Given the description of an element on the screen output the (x, y) to click on. 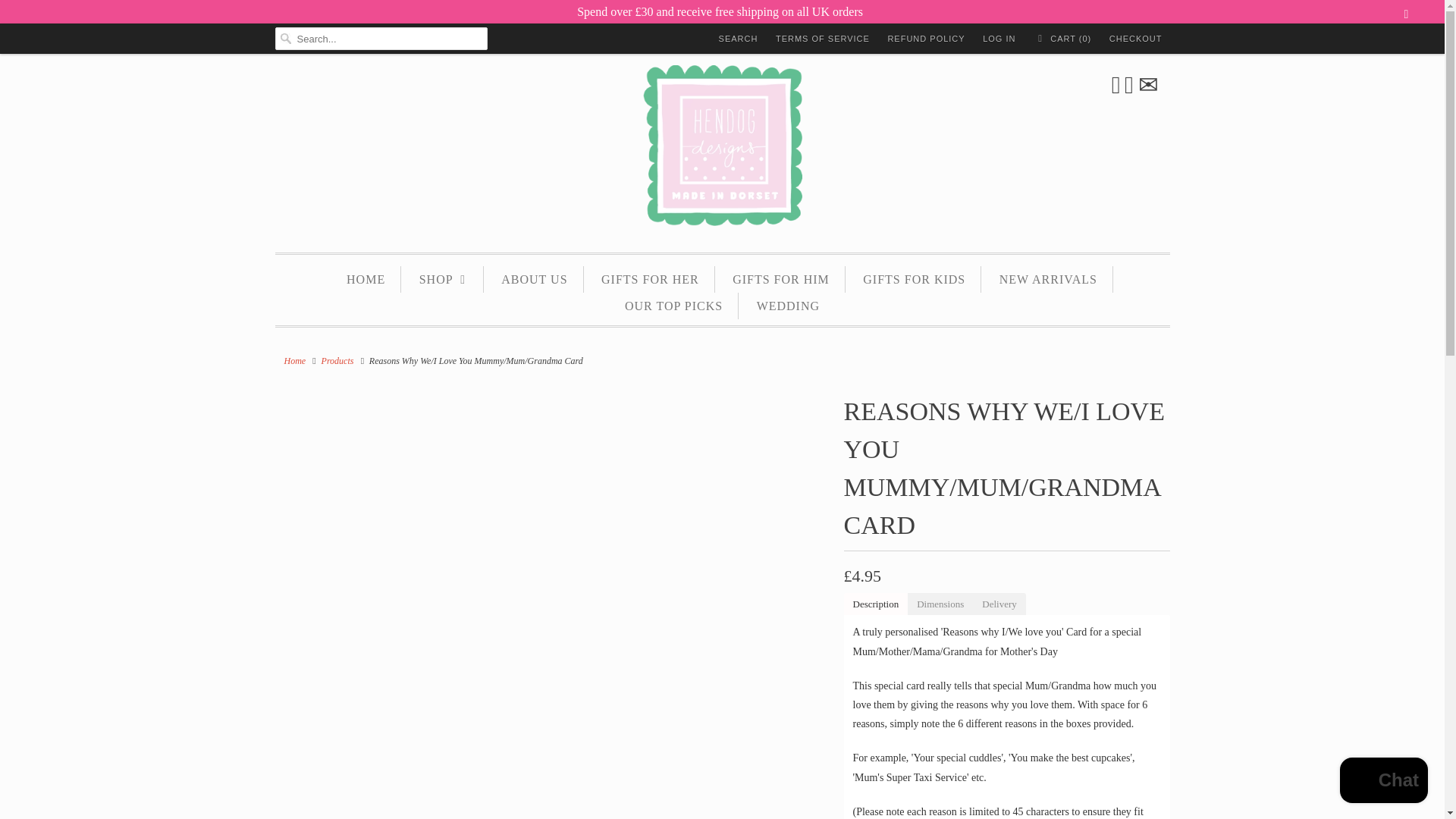
Hendog Designs (294, 360)
SHOP (443, 279)
REFUND POLICY (924, 38)
Products (337, 360)
HOME (365, 279)
TERMS OF SERVICE (822, 38)
Hendog Designs (722, 151)
SEARCH (738, 38)
CHECKOUT (1135, 38)
LOG IN (998, 38)
